Given the description of an element on the screen output the (x, y) to click on. 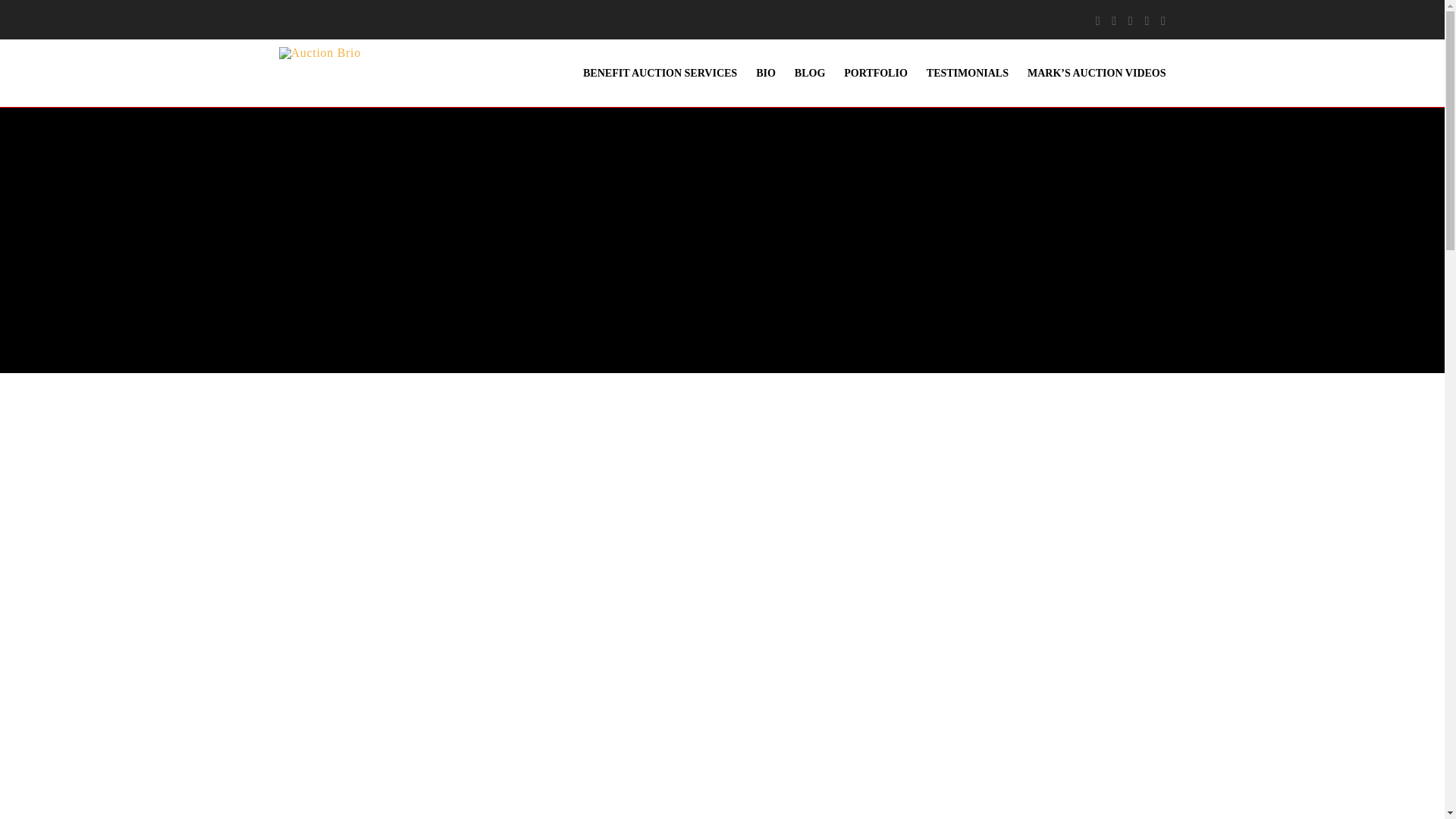
BENEFIT AUCTION SERVICES (650, 73)
PORTFOLIO (866, 73)
TESTIMONIALS (958, 73)
